Given the description of an element on the screen output the (x, y) to click on. 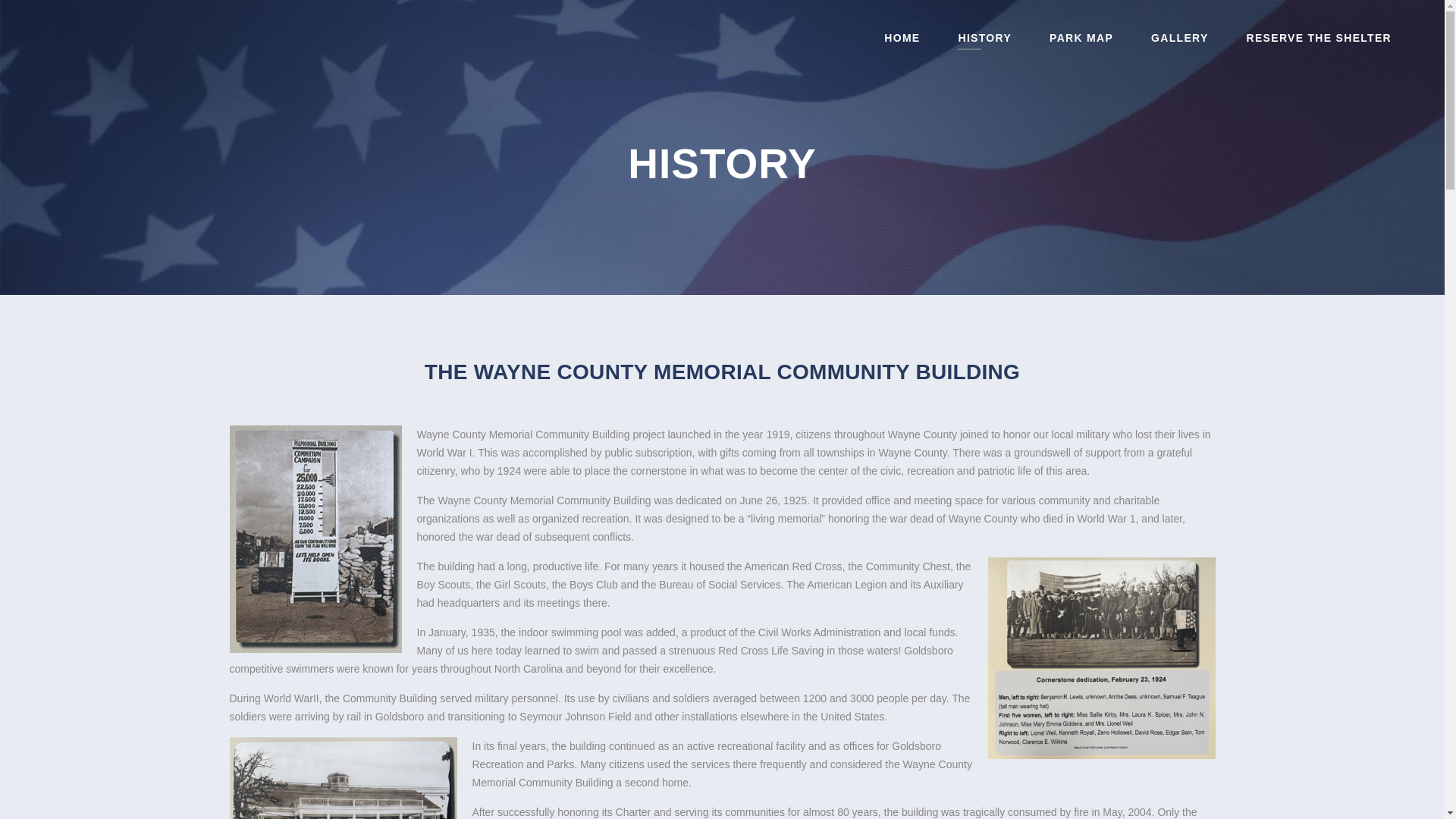
HISTORY (984, 38)
PARK MAP (1081, 38)
RESERVE THE SHELTER (1318, 38)
HOME (901, 38)
GALLERY (1179, 38)
